Given the description of an element on the screen output the (x, y) to click on. 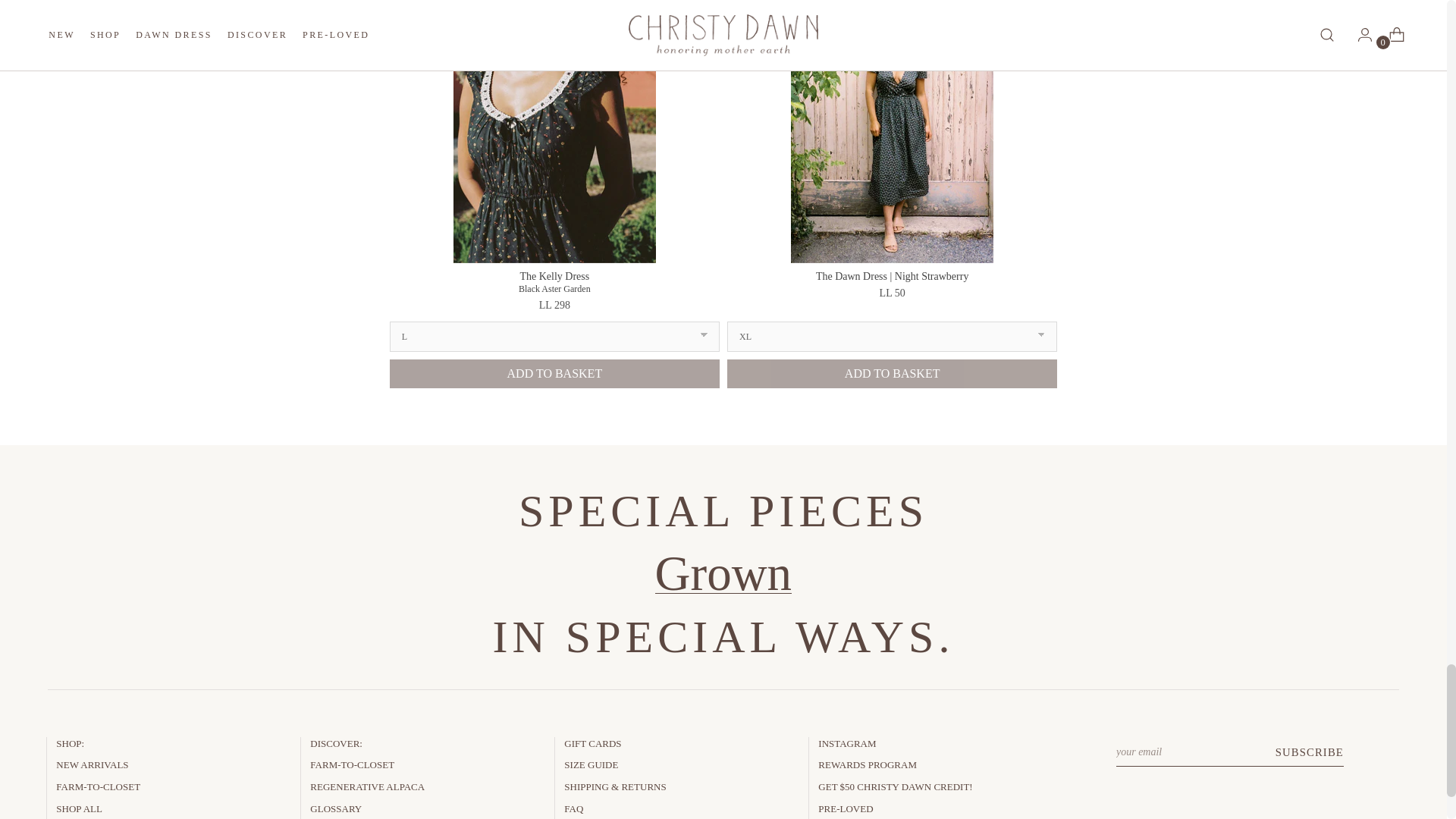
Select product variant (554, 336)
Select product variant (891, 336)
